Given the description of an element on the screen output the (x, y) to click on. 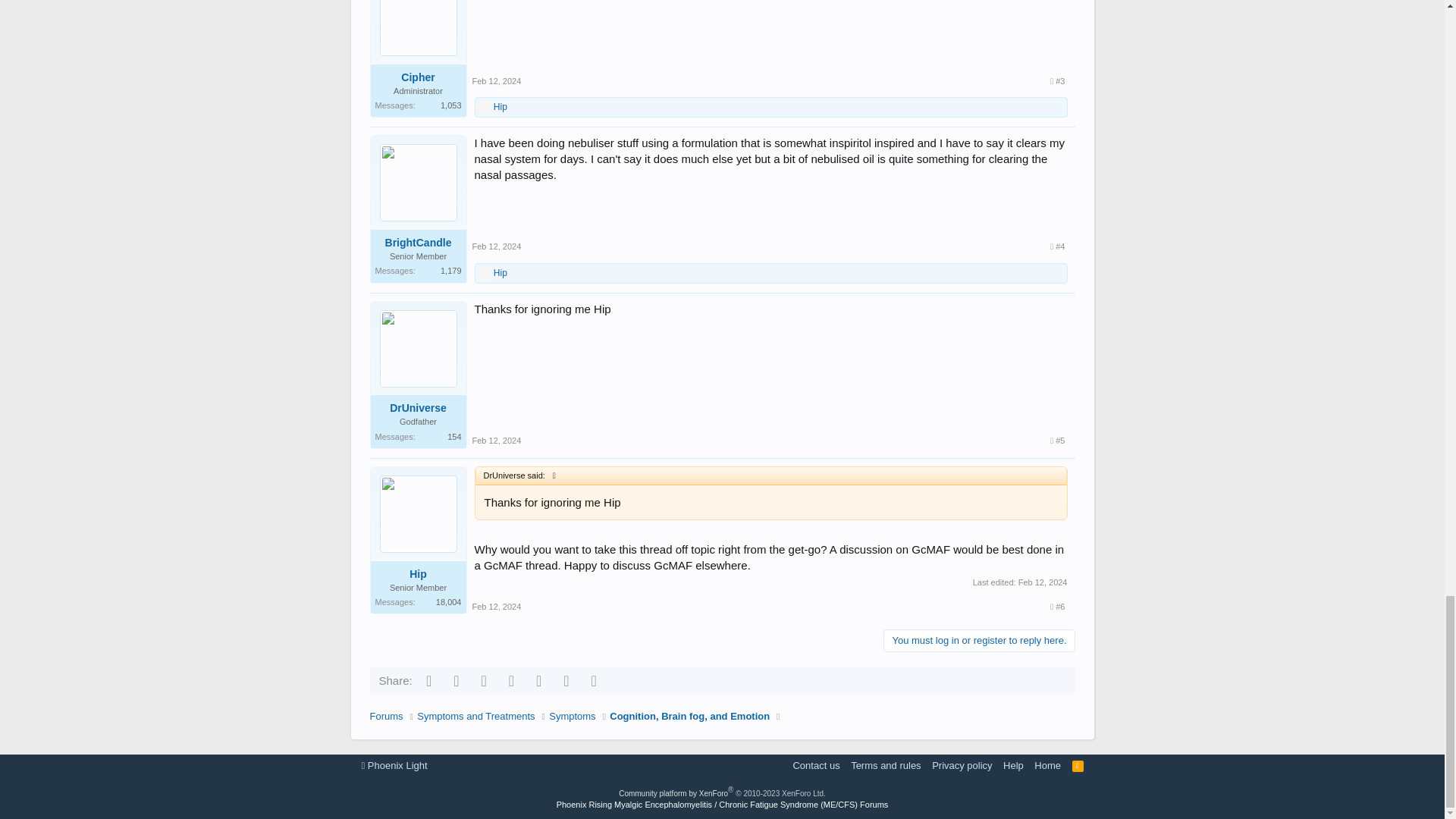
Feb 12, 2024 at 9:06 AM (496, 80)
Feb 12, 2024 at 8:36 PM (1042, 582)
Feb 12, 2024 at 6:34 PM (496, 440)
Like (485, 107)
Feb 12, 2024 at 3:08 PM (496, 245)
Like (485, 273)
Feb 12, 2024 at 6:53 PM (496, 605)
